Given the description of an element on the screen output the (x, y) to click on. 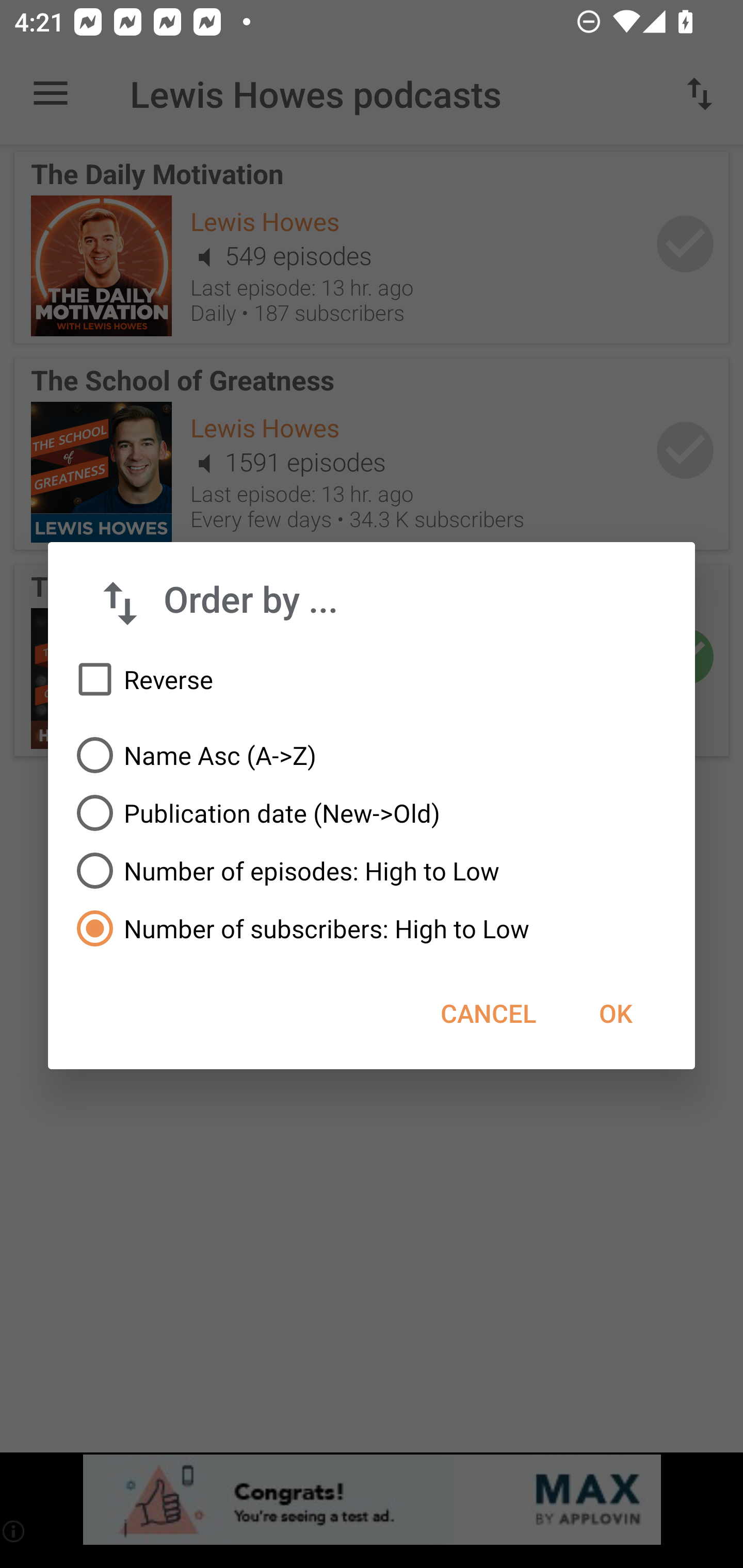
Reverse (371, 679)
Name Asc (A->Z) (371, 754)
Publication date (New->Old) (371, 813)
Number of episodes: High to Low (371, 871)
Number of subscribers: High to Low (371, 929)
CANCEL (488, 1012)
OK (615, 1012)
